Given the description of an element on the screen output the (x, y) to click on. 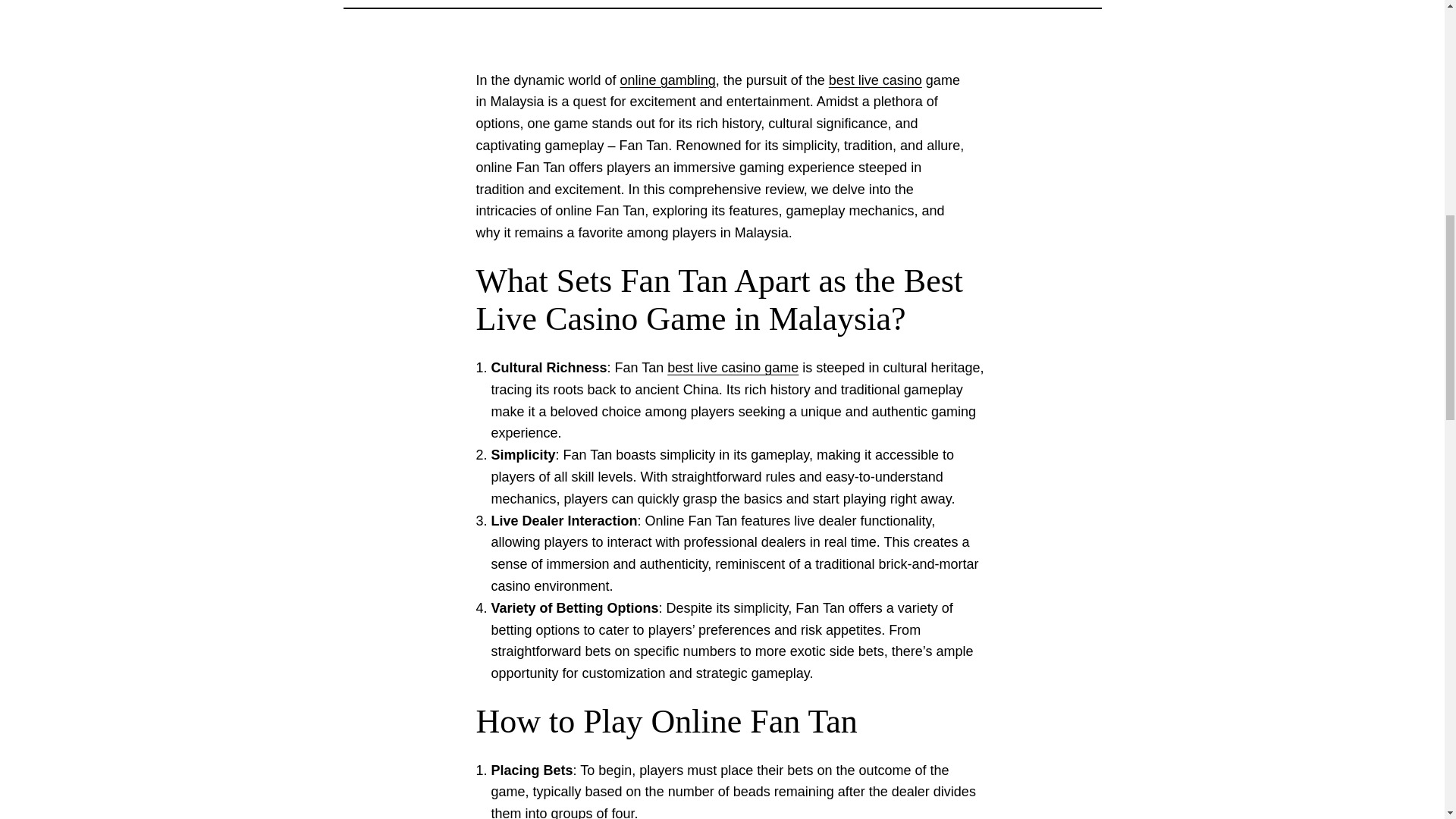
best live casino (874, 79)
best live casino game (731, 367)
online gambling (668, 79)
